Given the description of an element on the screen output the (x, y) to click on. 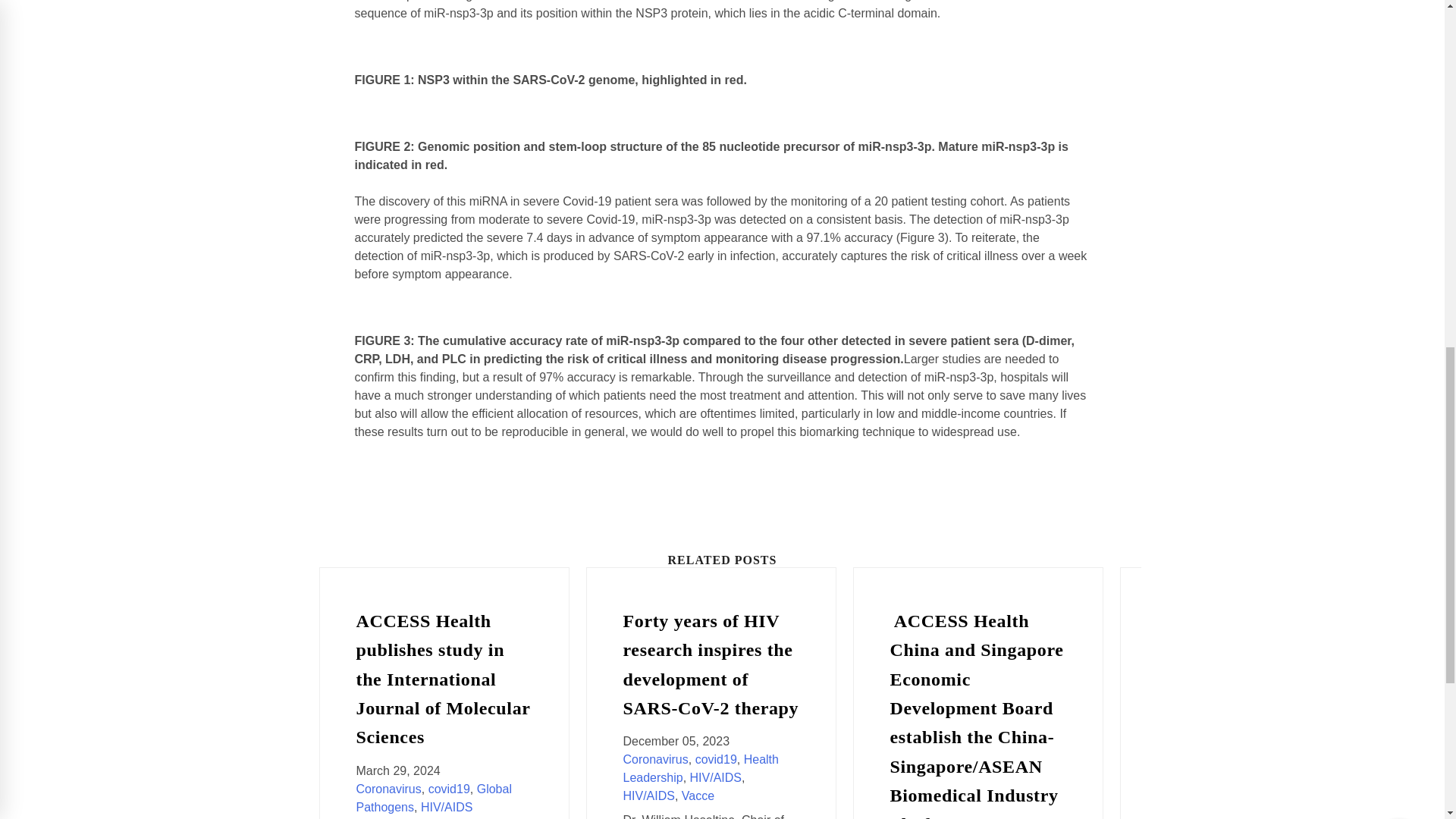
Global Pathogens (434, 798)
Vacce (697, 795)
covid19 (715, 758)
covid19 (449, 788)
Coronavirus (655, 758)
Health Leadership (700, 767)
Coronavirus (389, 788)
